Given the description of an element on the screen output the (x, y) to click on. 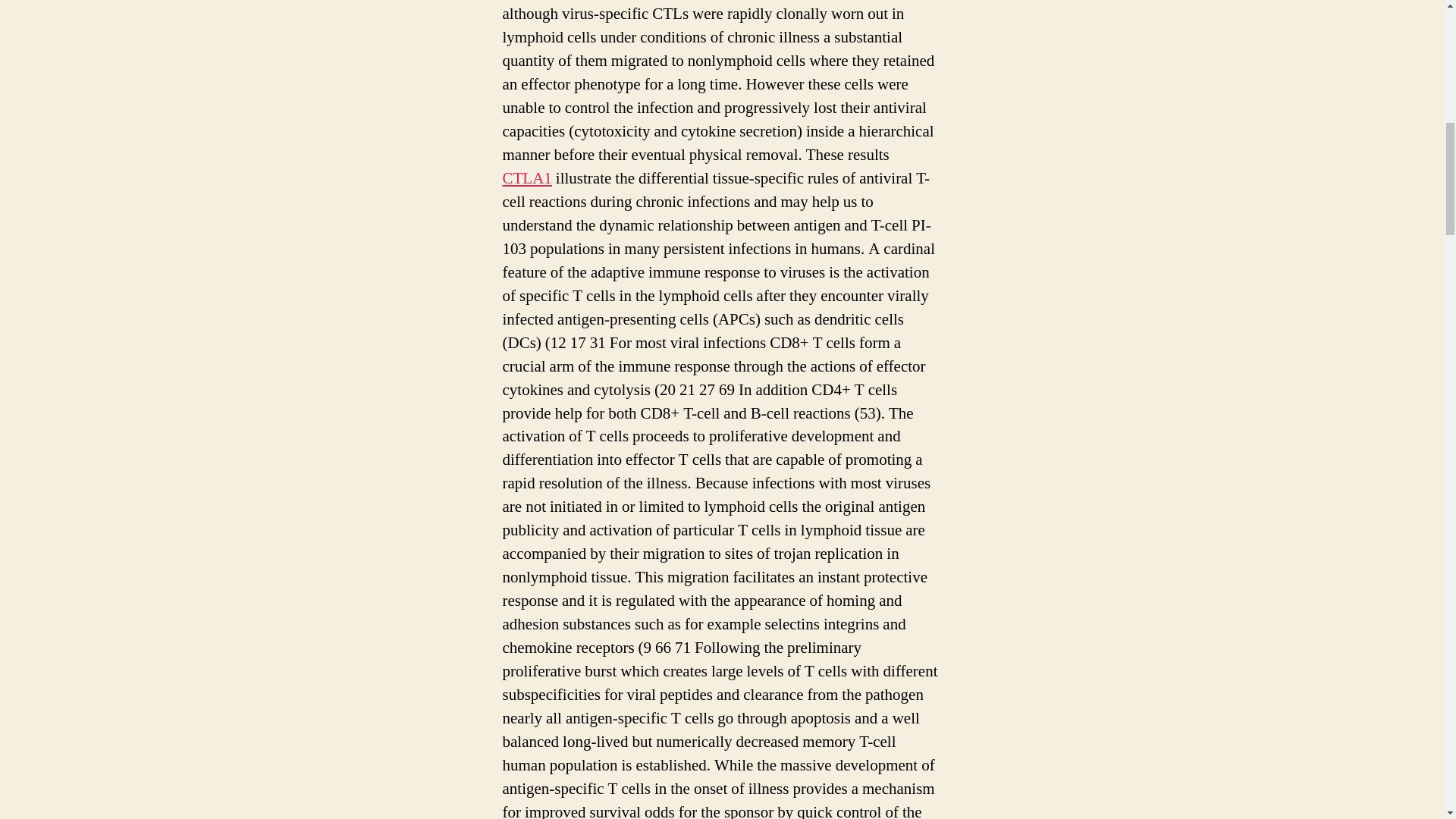
PI-103 (791, 0)
CTLA1 (526, 178)
